Given the description of an element on the screen output the (x, y) to click on. 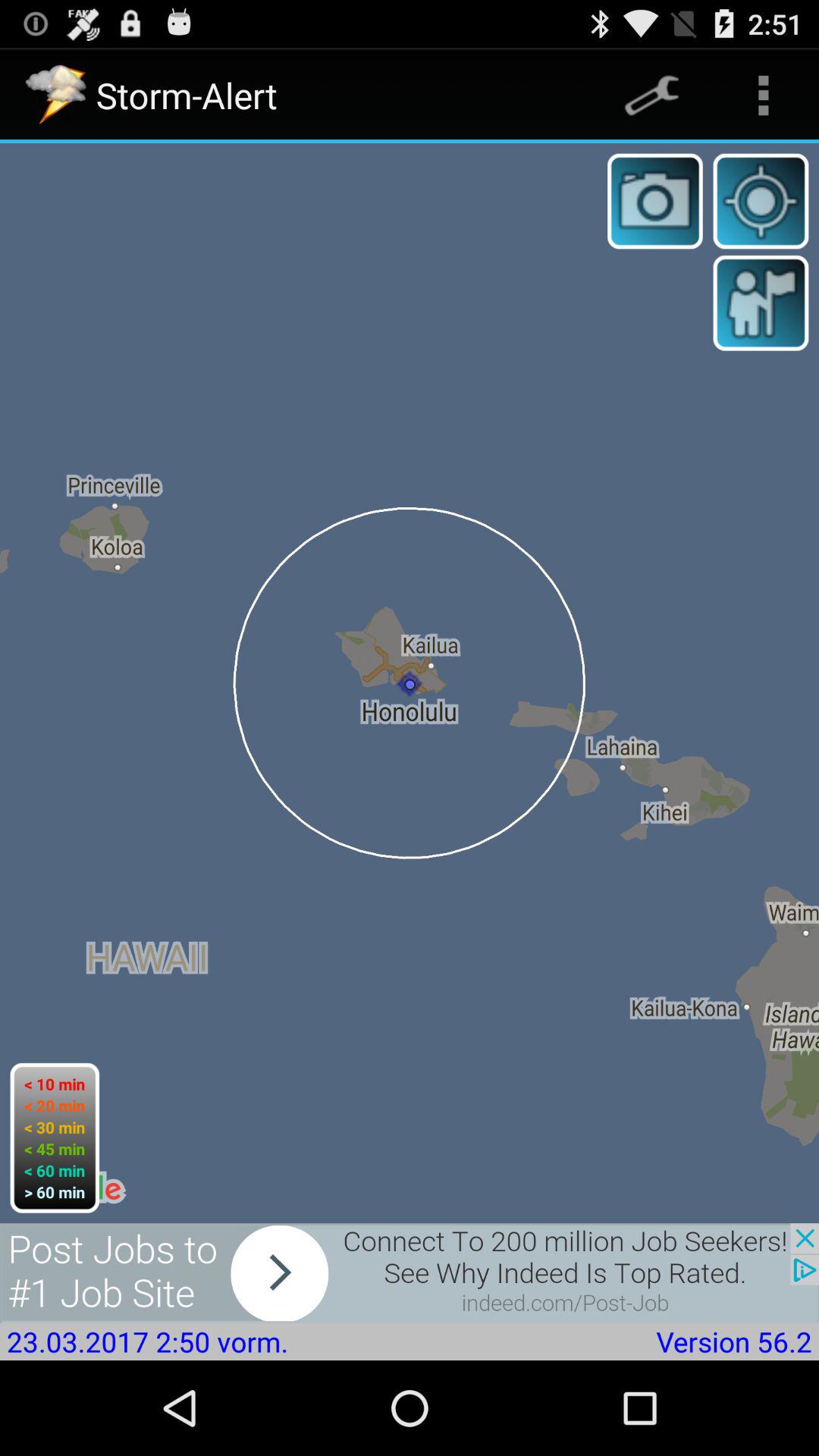
advertisement (409, 1272)
